Given the description of an element on the screen output the (x, y) to click on. 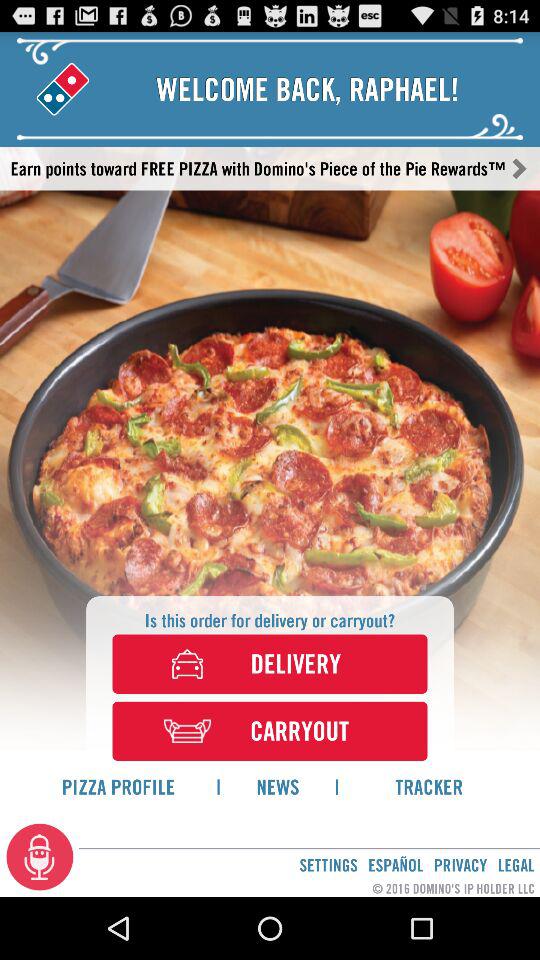
press the item next to | icon (277, 786)
